Given the description of an element on the screen output the (x, y) to click on. 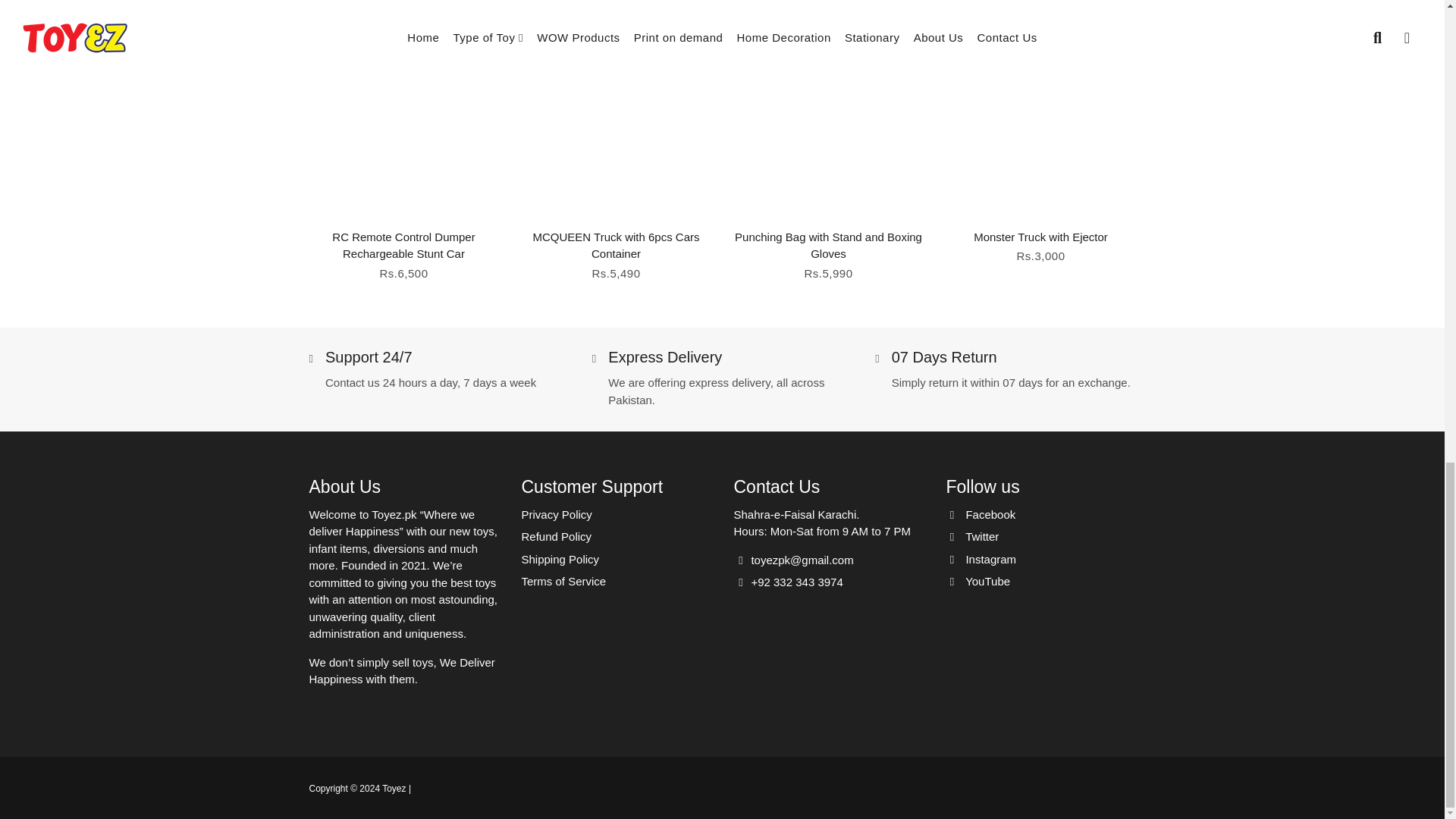
Toyez on Twitter (972, 537)
Toyez on YouTube (978, 581)
Toyez on Instagram (981, 559)
Toyez on Facebook (981, 515)
